Given the description of an element on the screen output the (x, y) to click on. 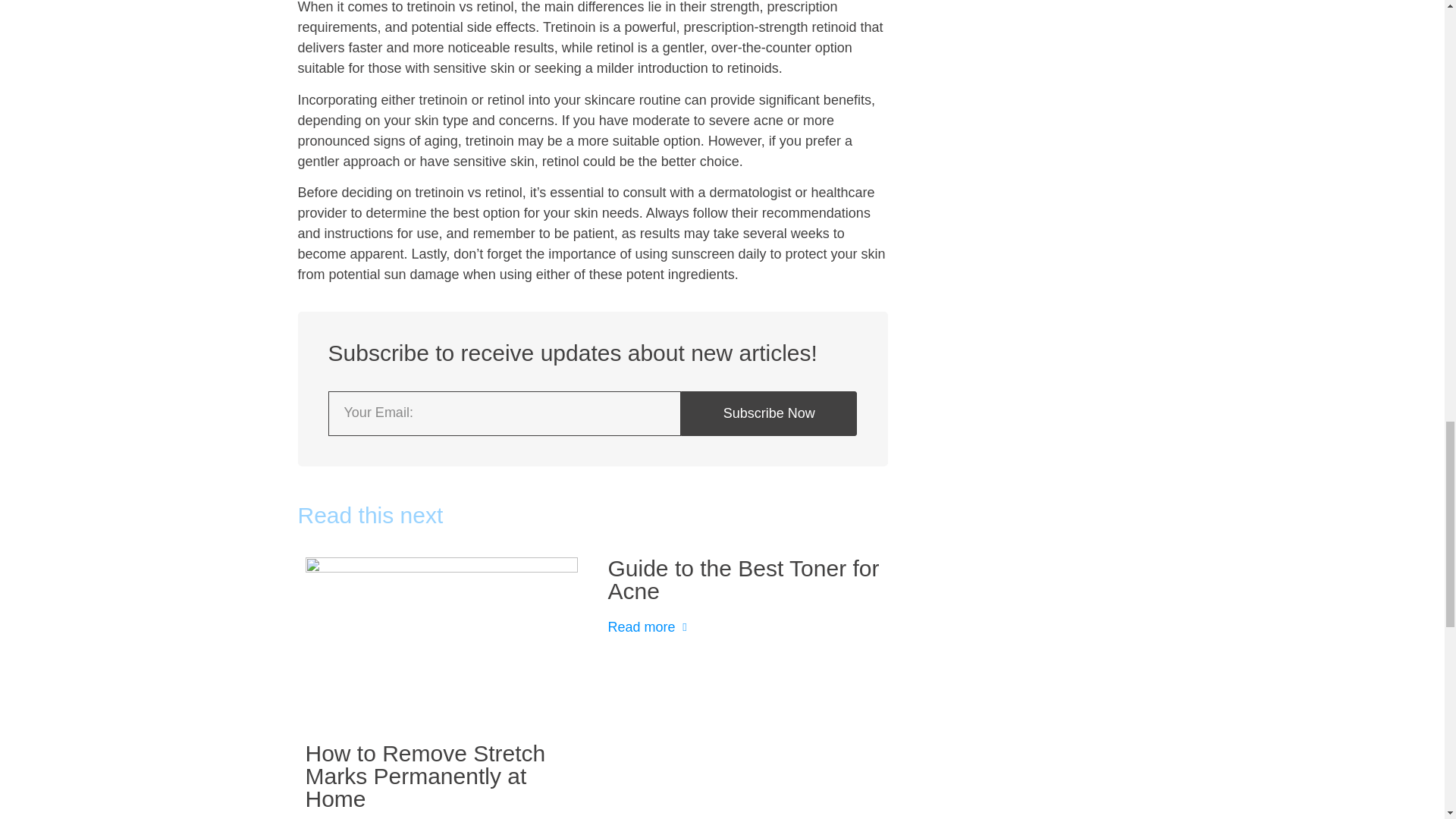
Read more (651, 626)
Subscribe Now (769, 413)
